Given the description of an element on the screen output the (x, y) to click on. 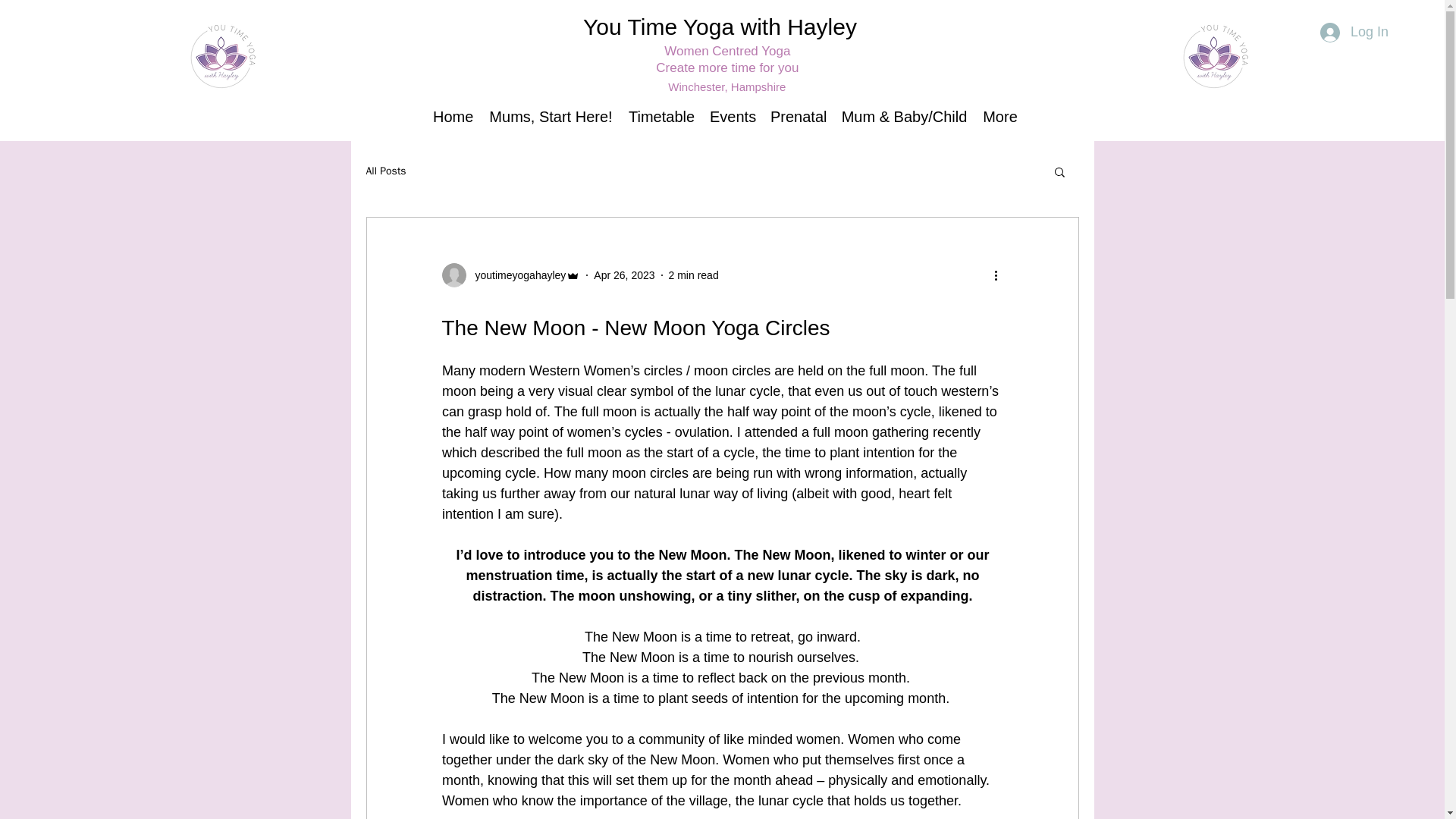
Events (731, 116)
youtimeyogahayley (510, 274)
You Time Yoga with Hayley (720, 26)
youtimeyogahayley (515, 275)
Log In (1353, 32)
Apr 26, 2023 (623, 275)
Home (452, 116)
All Posts (385, 171)
Mums, Start Here! (550, 116)
Timetable (661, 116)
2 min read (693, 275)
Prenatal (797, 116)
